Given the description of an element on the screen output the (x, y) to click on. 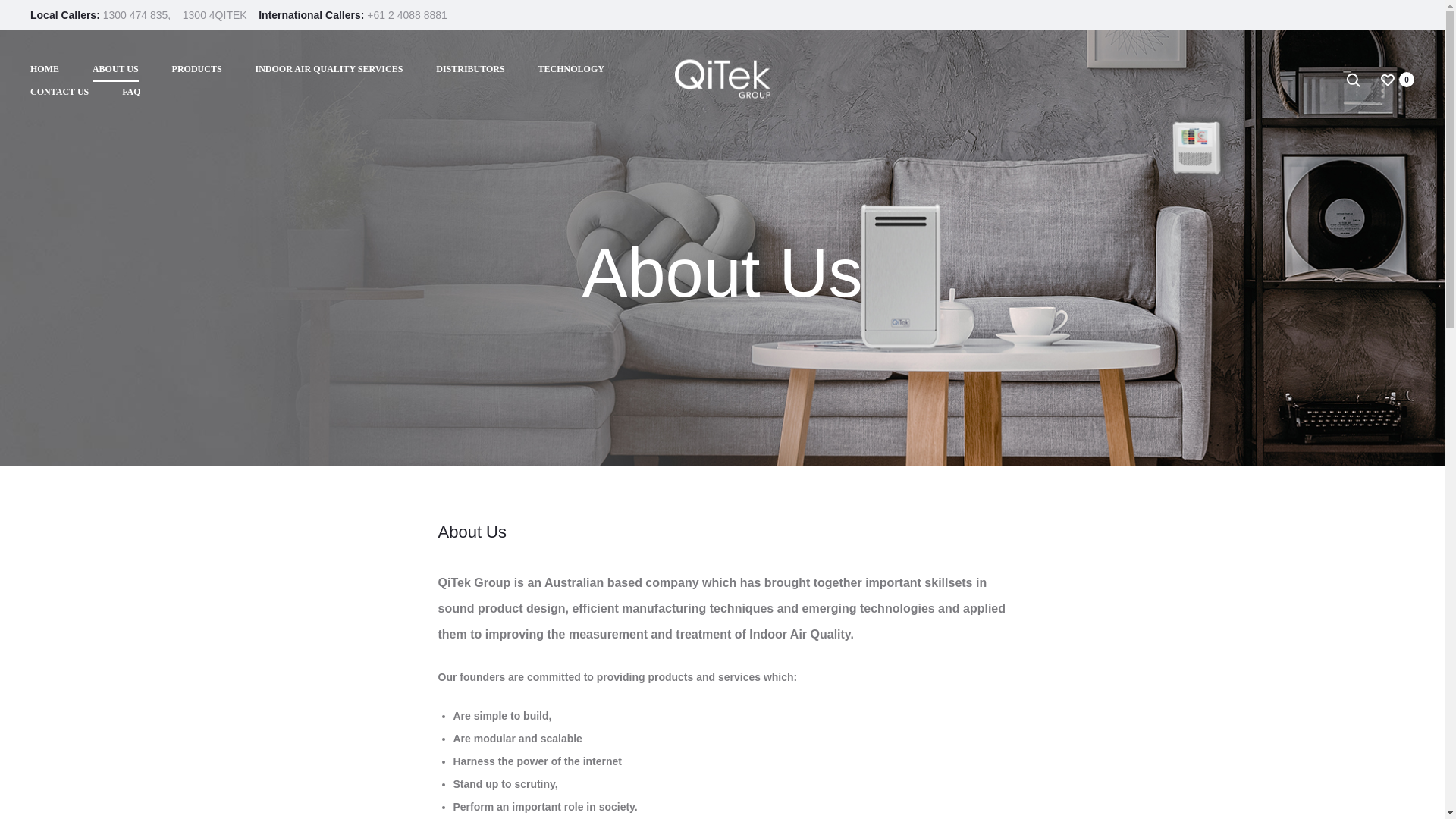
1300 474 835, (138, 15)
1300 4QITEK (216, 15)
ABOUT US (115, 69)
PRODUCTS (196, 69)
Search (1353, 79)
FAQ (130, 92)
CONTACT US (59, 92)
TECHNOLOGY (571, 69)
HOME (44, 69)
0 (1387, 79)
INDOOR AIR QUALITY SERVICES (328, 69)
DISTRIBUTORS (469, 69)
